Given the description of an element on the screen output the (x, y) to click on. 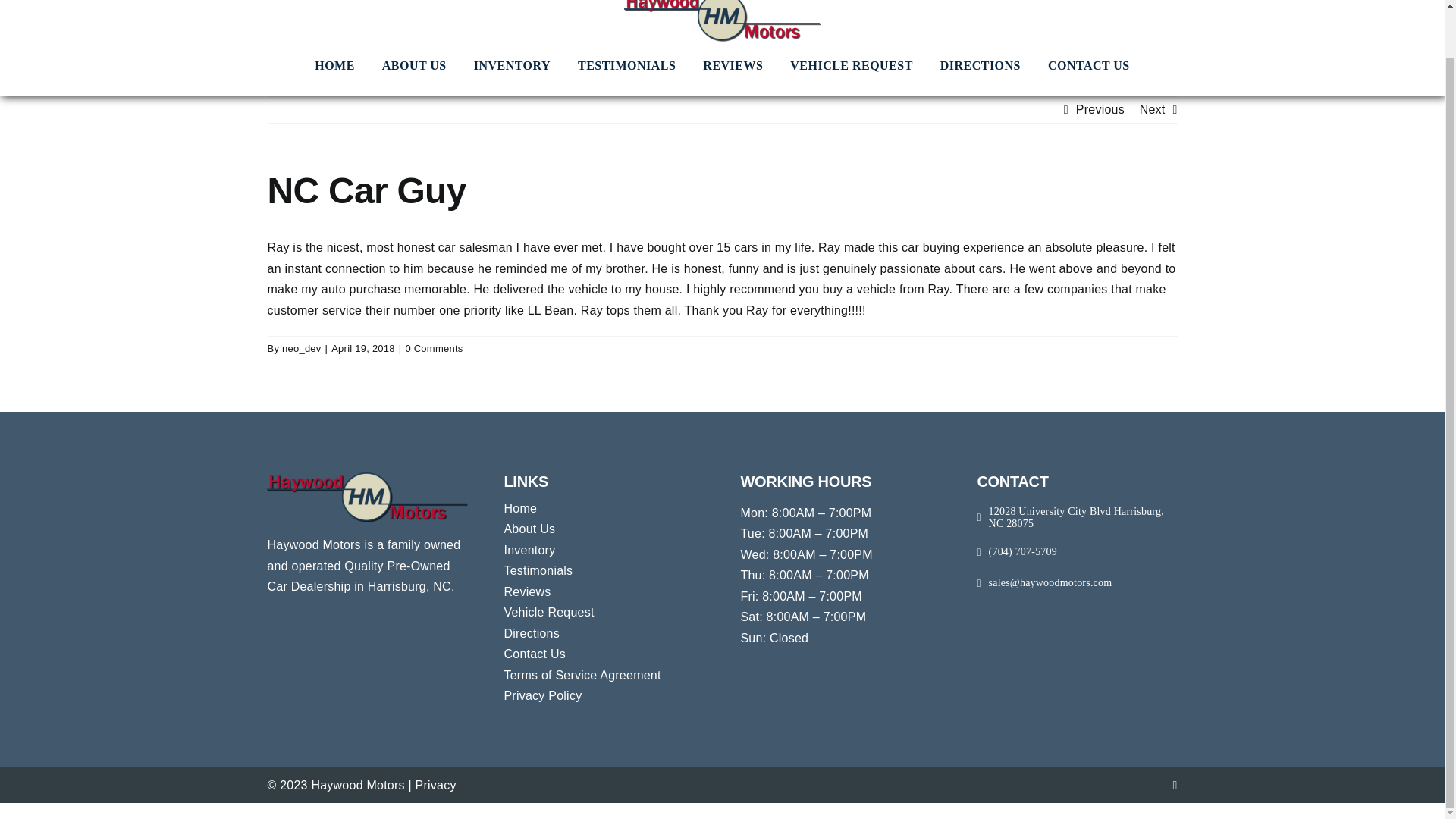
VEHICLE REQUEST (851, 66)
CONTACT US (1088, 66)
Testimonials (603, 570)
Reviews (603, 591)
Vehicle Request (603, 612)
DIRECTIONS (980, 66)
Contact Us (603, 654)
Inventory (603, 550)
ABOUT US (413, 66)
HOME (334, 66)
